Given the description of an element on the screen output the (x, y) to click on. 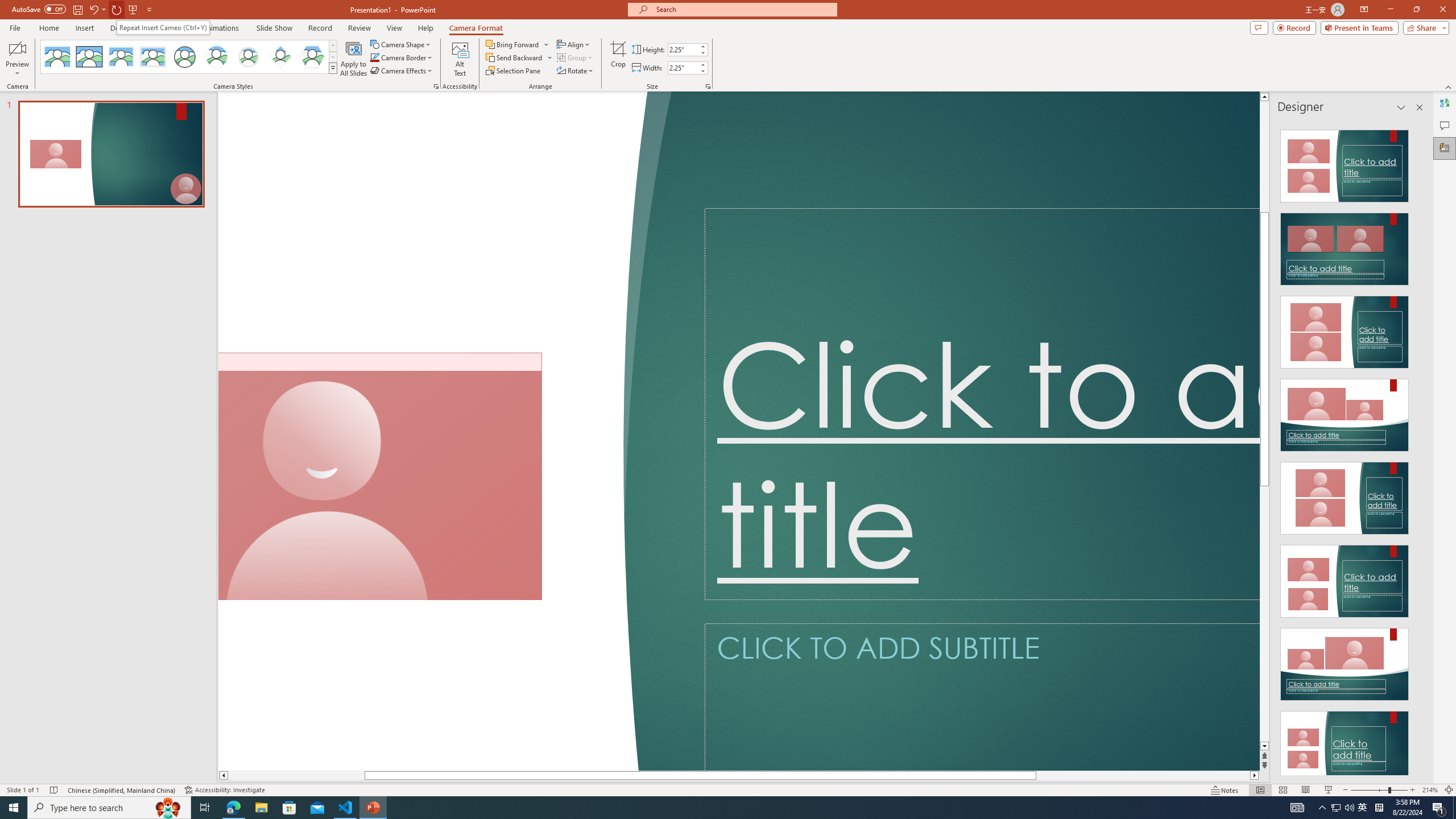
Normal (1260, 790)
Center Shadow Diamond (280, 56)
Reading View (1305, 790)
Camera Styles (333, 67)
Collapse the Ribbon (1448, 86)
Camera Shape (400, 44)
AutoSave (38, 9)
Class: MsoCommandBar (728, 789)
Designer (1444, 147)
Camera Format (475, 28)
Page up (1264, 156)
Repeat Insert Cameo (Ctrl+Y) (162, 27)
Present in Teams (1359, 27)
